Given the description of an element on the screen output the (x, y) to click on. 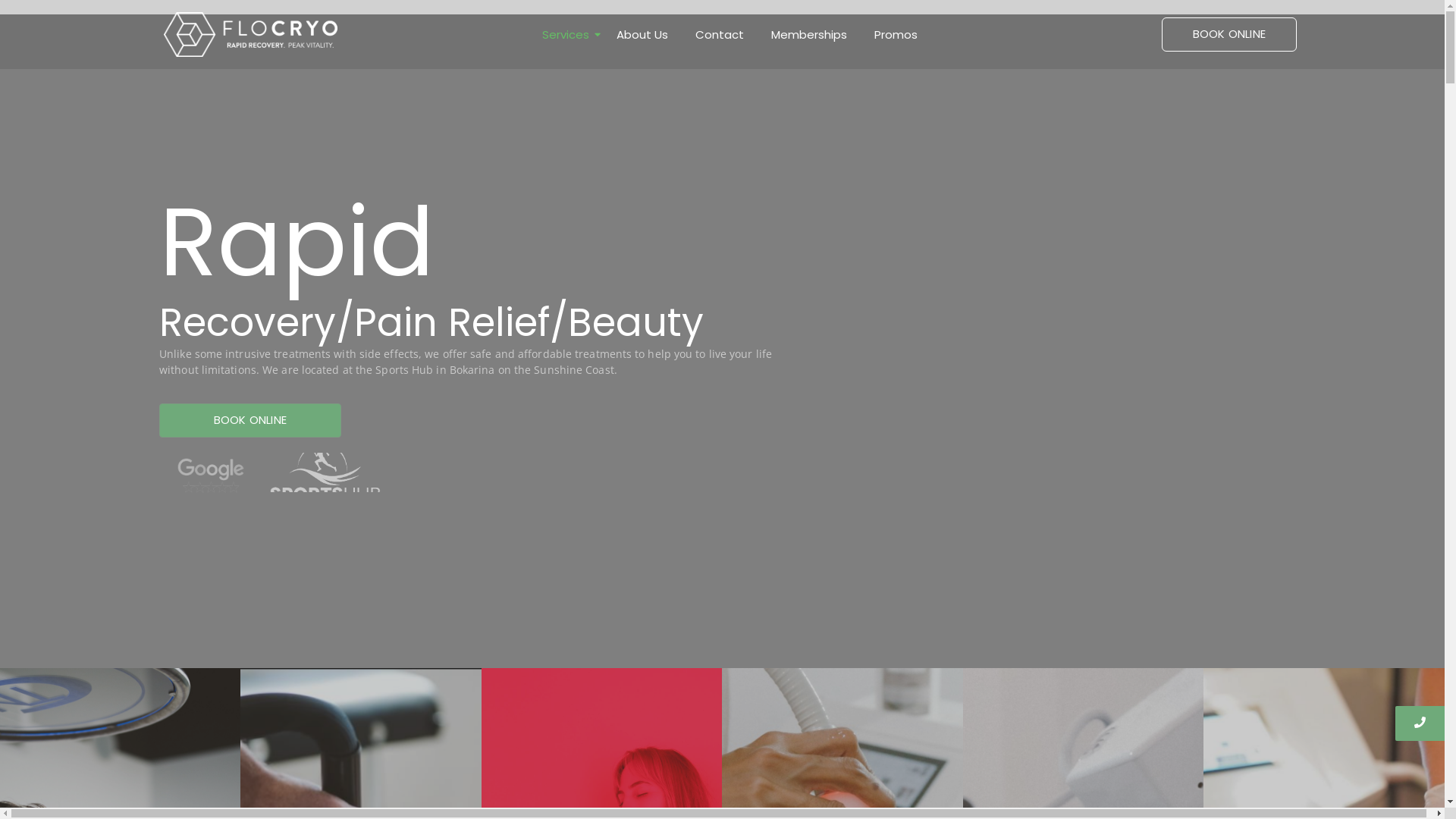
BOOK ONLINE Element type: text (1228, 34)
Services Element type: text (565, 34)
About Us Element type: text (642, 34)
Contact Element type: text (719, 34)
BOOK ONLINE Element type: text (250, 420)
Promos Element type: text (895, 34)
Memberships Element type: text (809, 34)
